Given the description of an element on the screen output the (x, y) to click on. 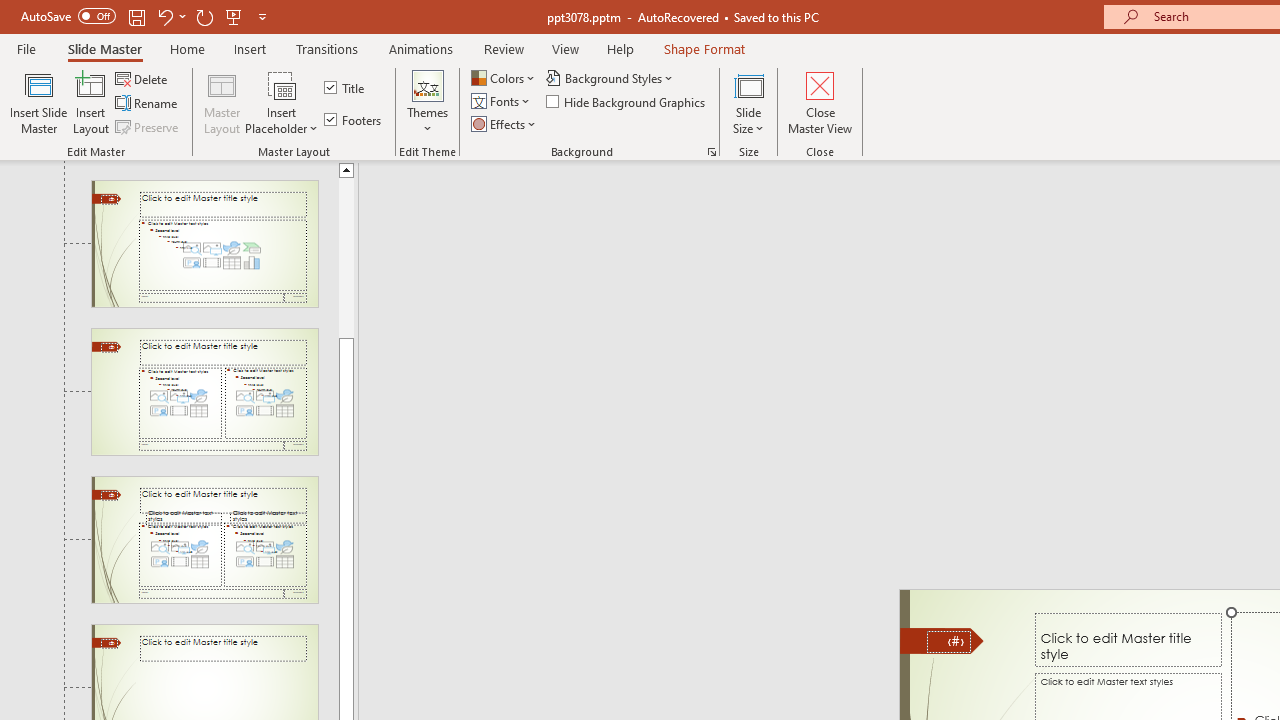
Hide Background Graphics (626, 101)
Slide Two Content Layout: used by no slides (204, 392)
Background Styles (610, 78)
Delete (143, 78)
Master Layout... (221, 102)
Shape Format (704, 48)
Close Master View (820, 102)
Format Background... (711, 151)
